Given the description of an element on the screen output the (x, y) to click on. 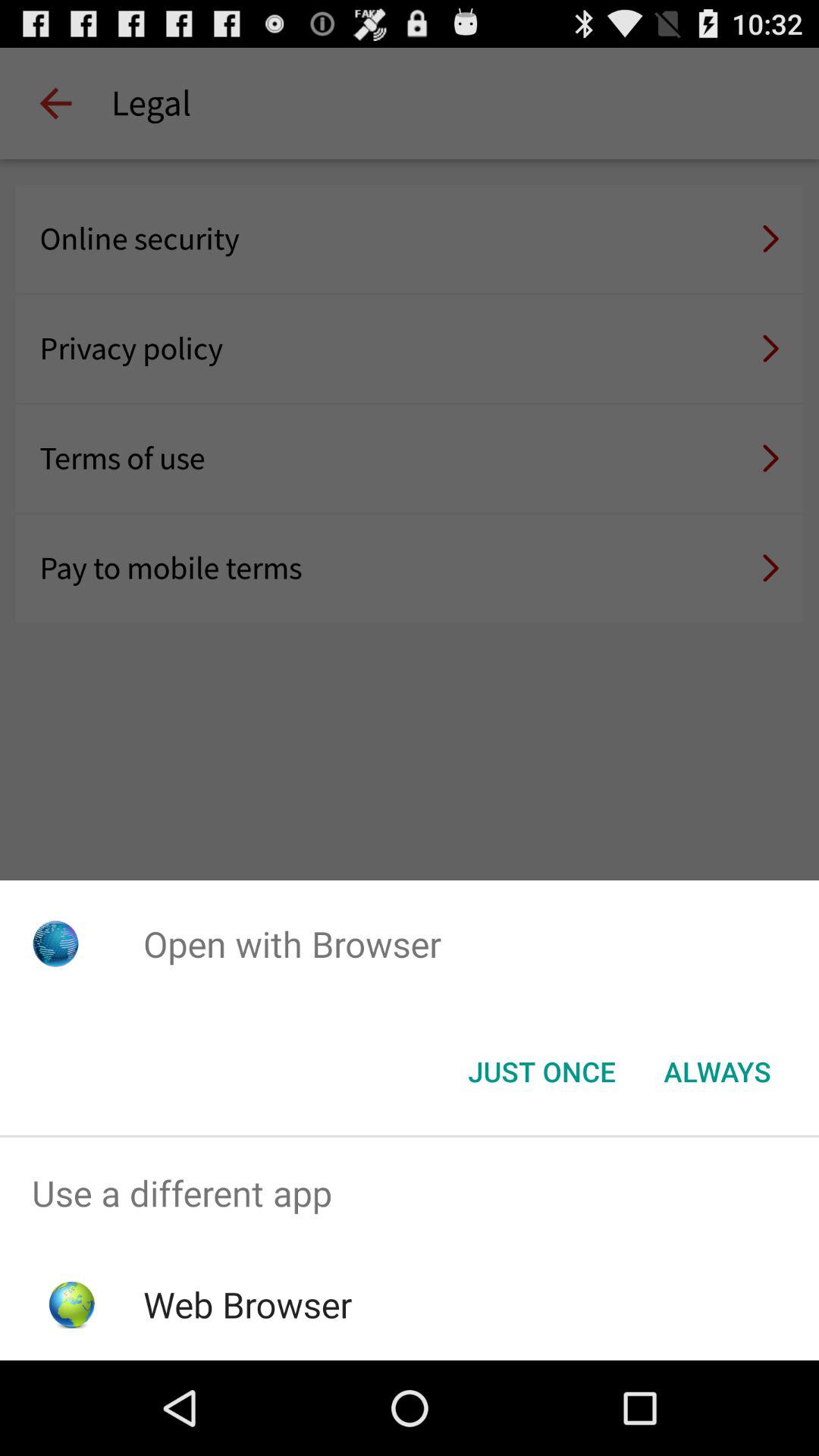
turn on item below open with browser (541, 1071)
